Given the description of an element on the screen output the (x, y) to click on. 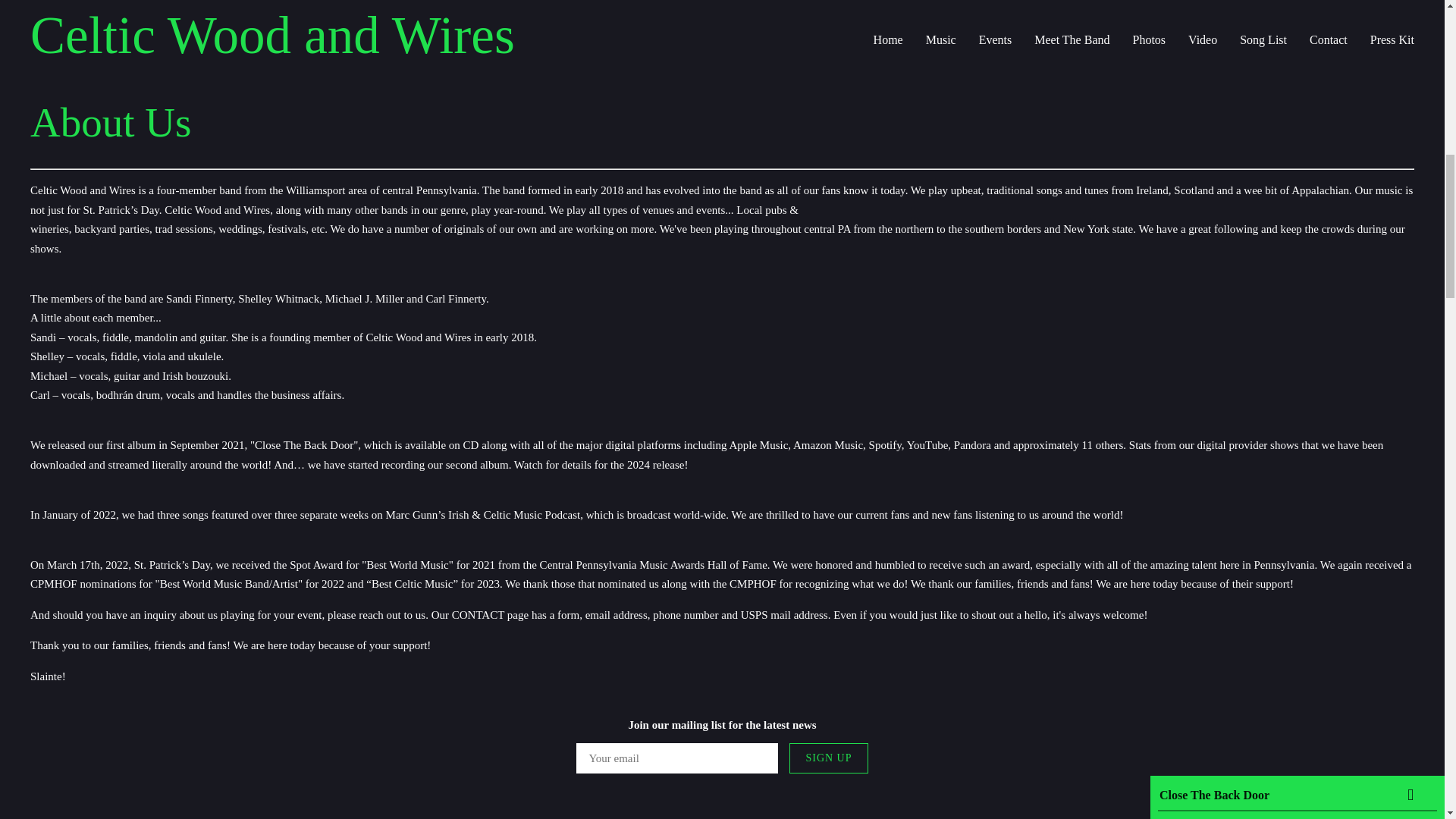
SIGN UP (828, 757)
